Given the description of an element on the screen output the (x, y) to click on. 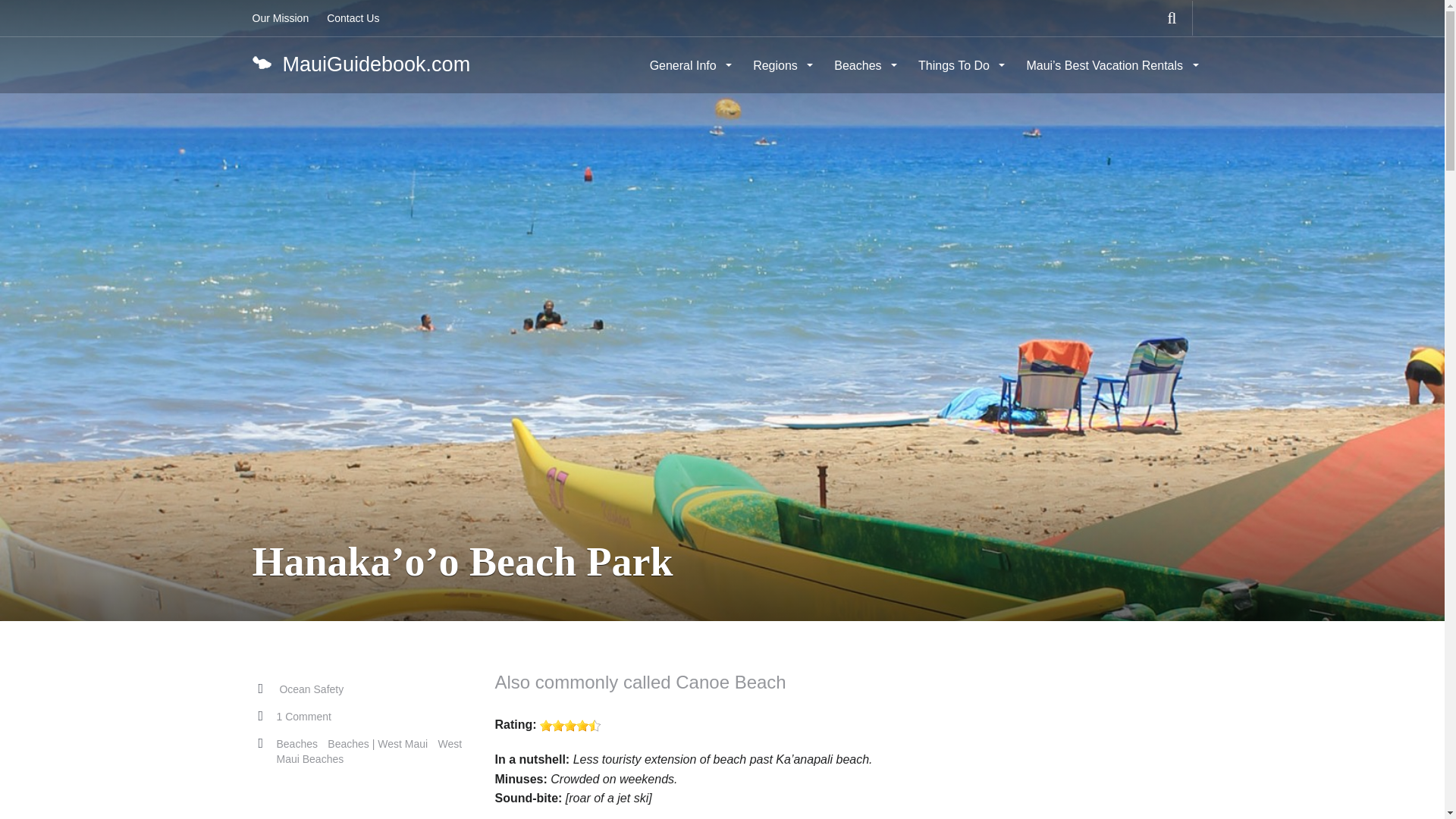
Things To Do (959, 64)
Contact Us (352, 18)
Regions (781, 64)
General Info (689, 64)
Our Mission (280, 18)
Maui Guidebook (359, 63)
 MauiGuidebook.com (359, 63)
Beaches (863, 64)
